Given the description of an element on the screen output the (x, y) to click on. 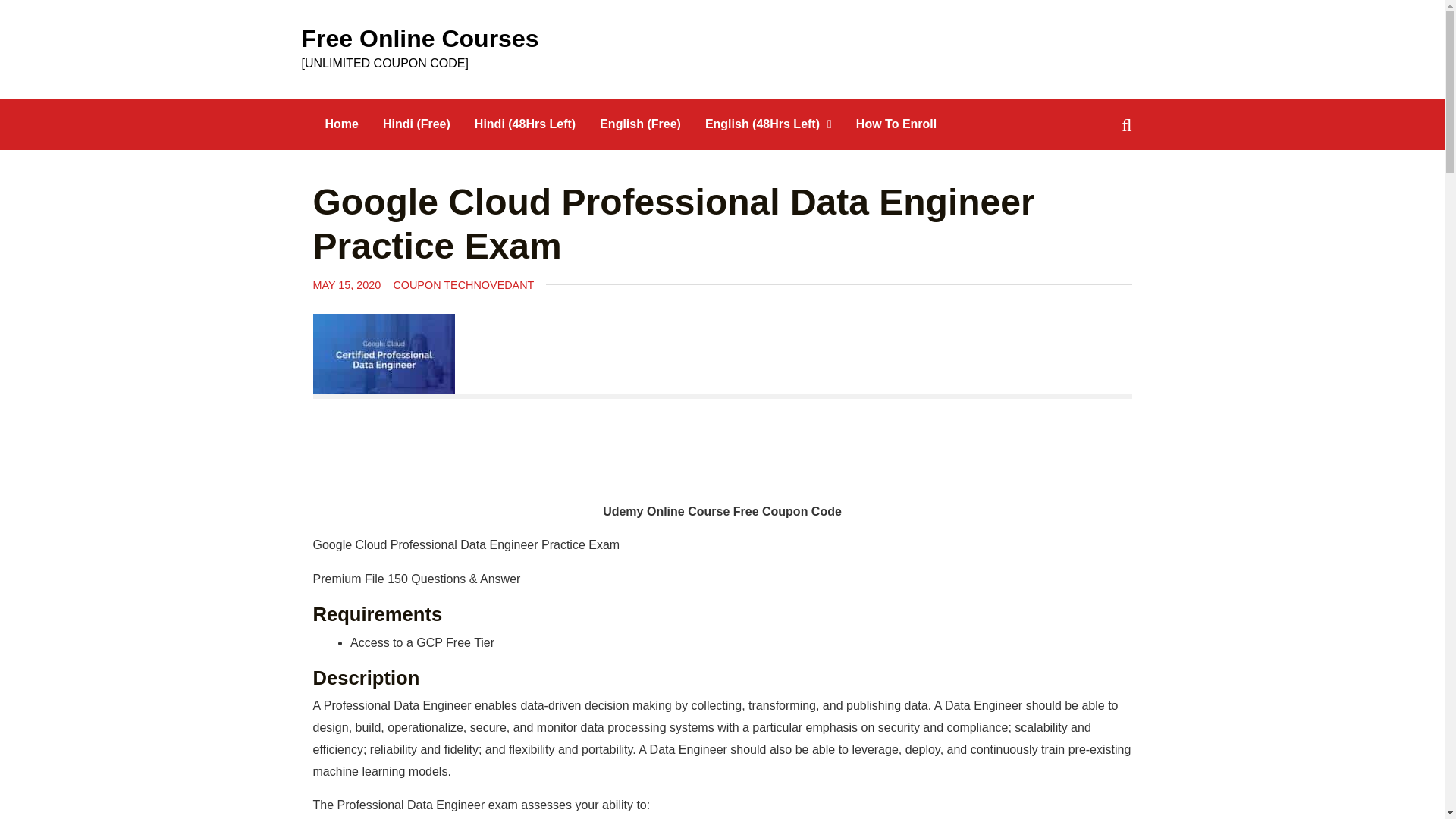
Home (341, 124)
How To Enroll (896, 124)
Free Online Courses (419, 38)
